Given the description of an element on the screen output the (x, y) to click on. 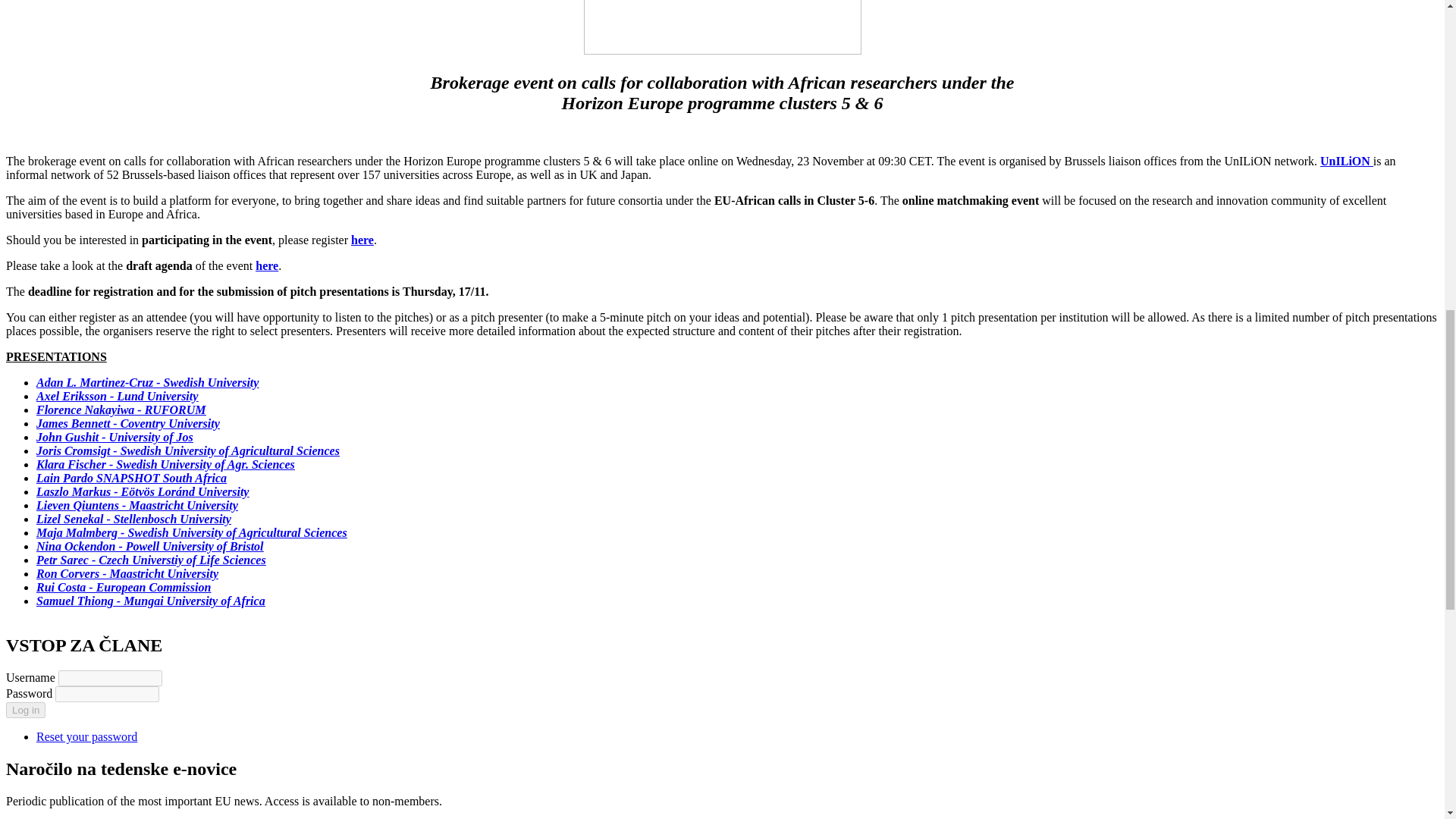
Lizel Senekal - Stellenbosch University (133, 518)
Ron Corvers - Maastricht University (127, 573)
UnILiON (1346, 160)
Axel Eriksson - Lund University (117, 395)
Klara Fischer - Swedish University of Agr. Sciences (165, 463)
Petr Sarec - Czech Universtiy of Life Sciences (151, 559)
Rui Costa - European Commission (123, 586)
Florence Nakayiwa - RUFORUM (121, 409)
Adan L. Martinez-Cruz - Swedish University (147, 382)
here (267, 265)
